Given the description of an element on the screen output the (x, y) to click on. 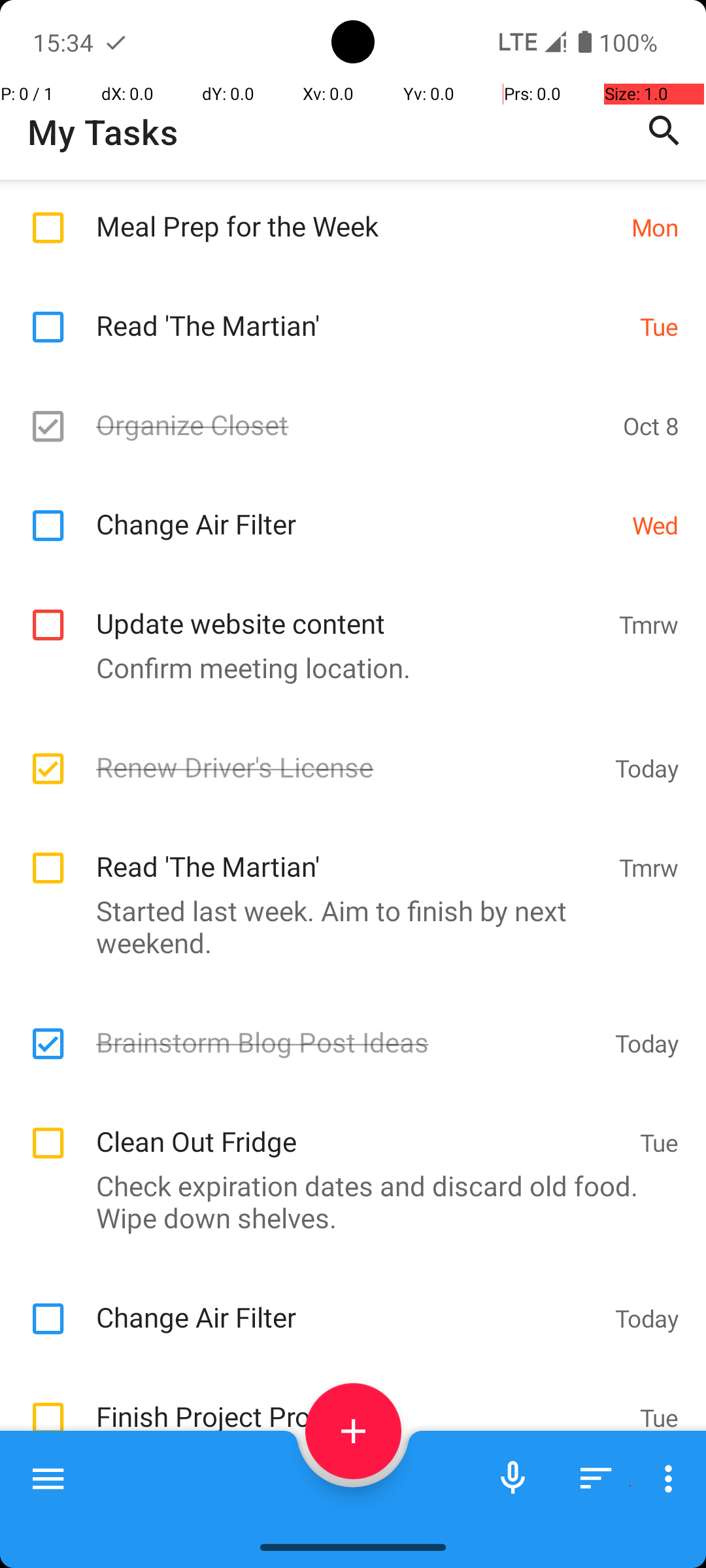
Update website content Element type: android.widget.TextView (350, 608)
Confirm meeting location. Element type: android.widget.TextView (346, 667)
